Given the description of an element on the screen output the (x, y) to click on. 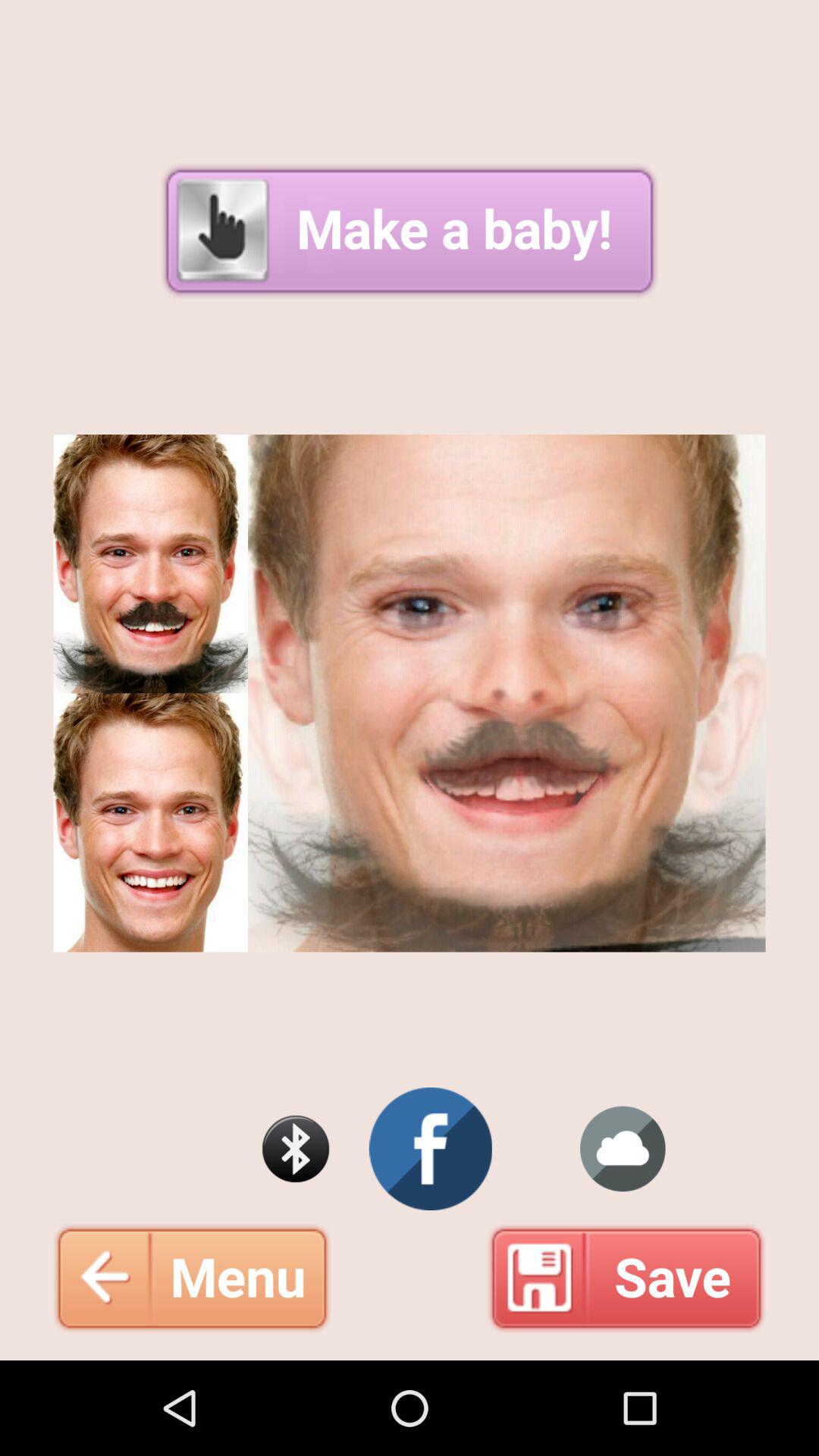
jump until make a baby! item (409, 231)
